Given the description of an element on the screen output the (x, y) to click on. 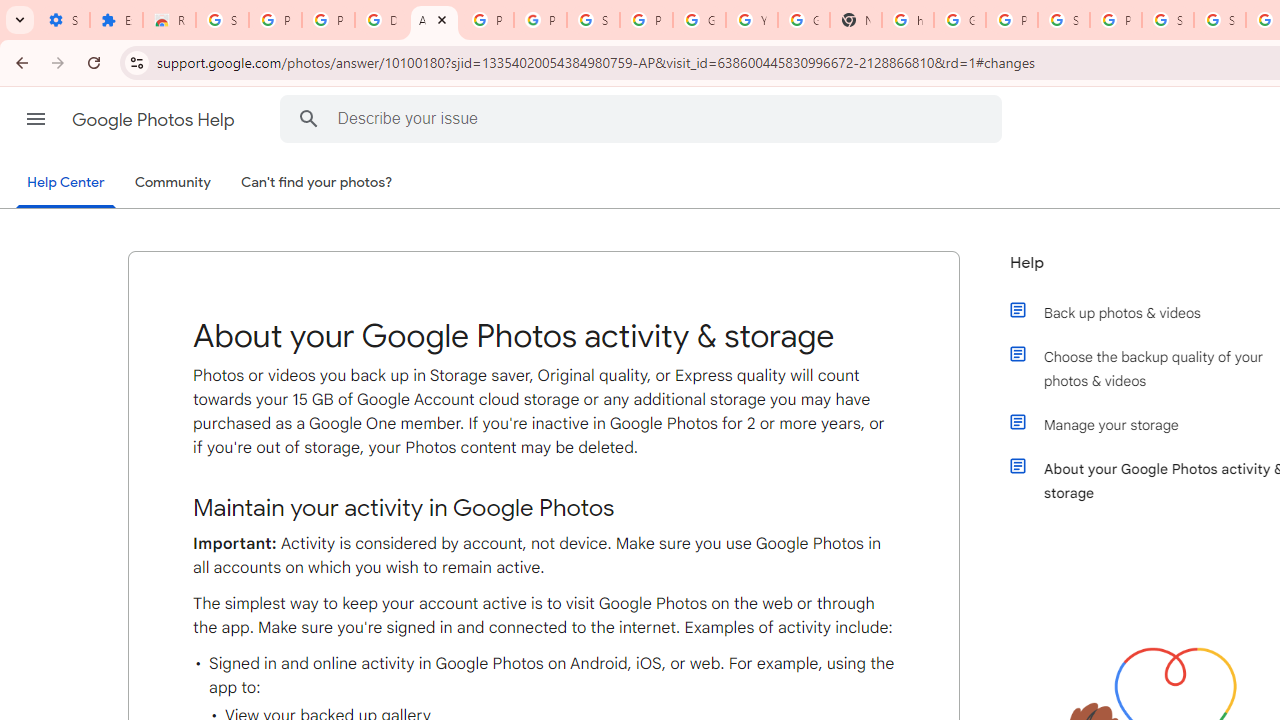
Settings - On startup (63, 20)
Extensions (116, 20)
Delete photos & videos - Computer - Google Photos Help (381, 20)
Sign in - Google Accounts (1064, 20)
https://scholar.google.com/ (907, 20)
Community (171, 183)
Sign in - Google Accounts (1167, 20)
Google Photos Help (155, 119)
Sign in - Google Accounts (593, 20)
Sign in - Google Accounts (1219, 20)
